Given the description of an element on the screen output the (x, y) to click on. 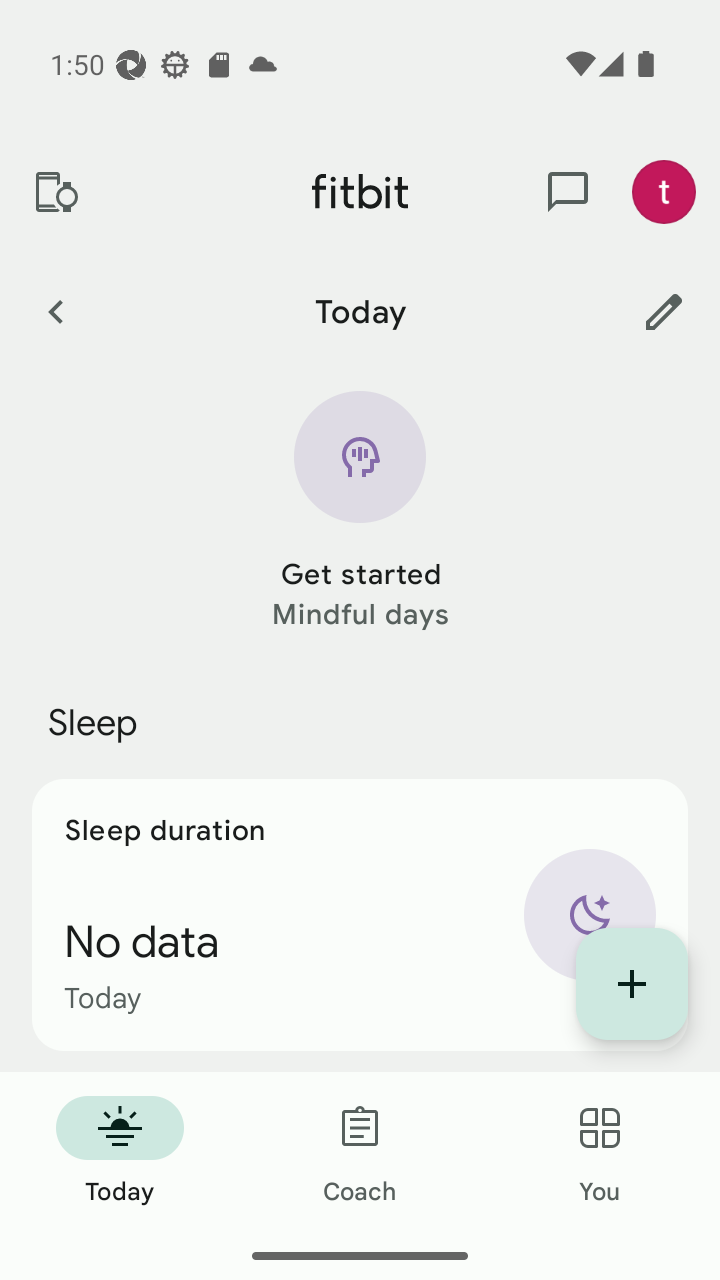
Devices and apps (55, 191)
messages and notifications (567, 191)
Previous Day (55, 311)
Customize (664, 311)
Mindfulness icon Get started Mindful days (360, 512)
Sleep duration No data Today Sleep static arc (359, 914)
Display list of quick log entries (632, 983)
Coach (359, 1151)
You (600, 1151)
